Given the description of an element on the screen output the (x, y) to click on. 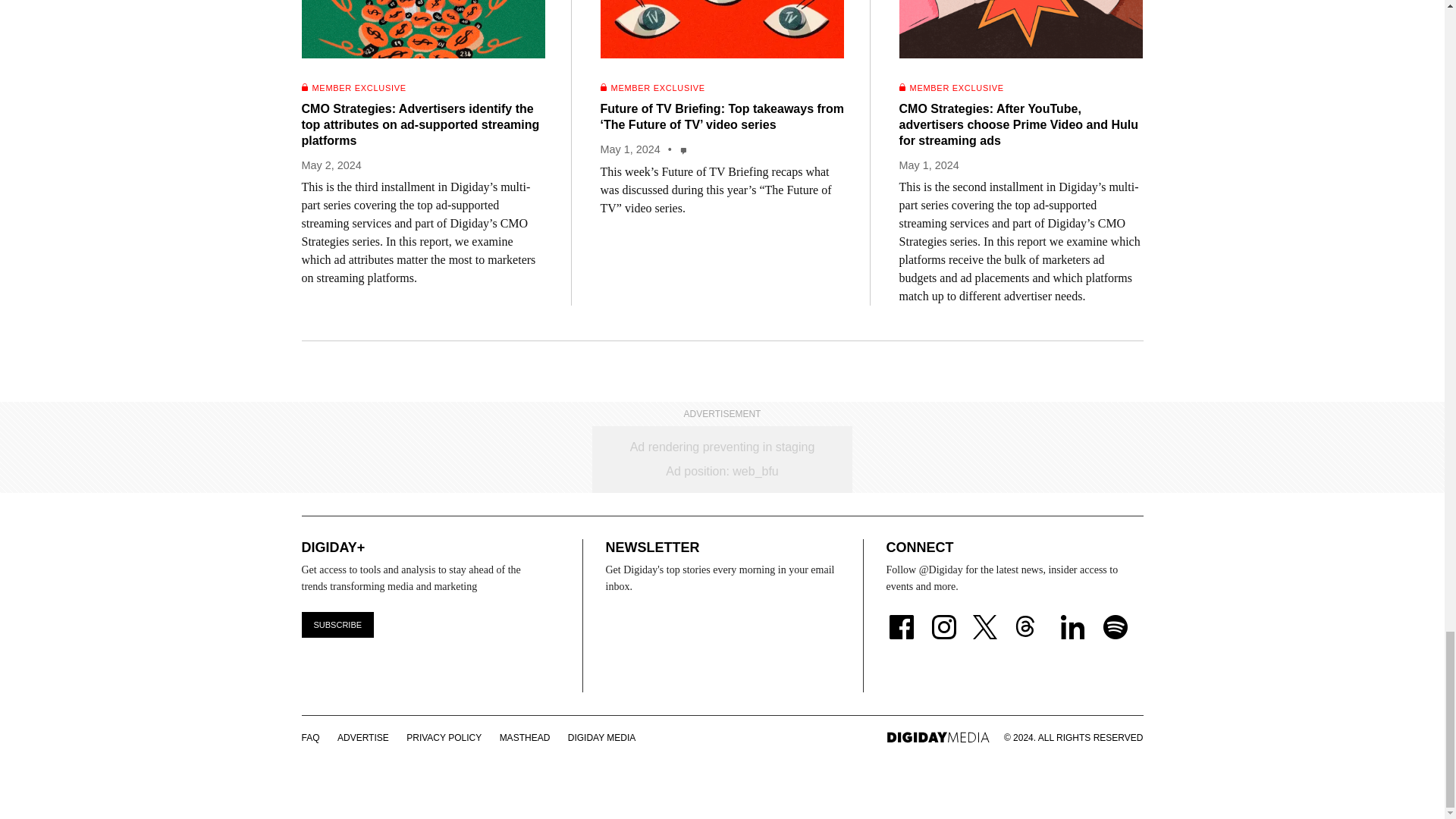
Join the conversation (683, 149)
